Given the description of an element on the screen output the (x, y) to click on. 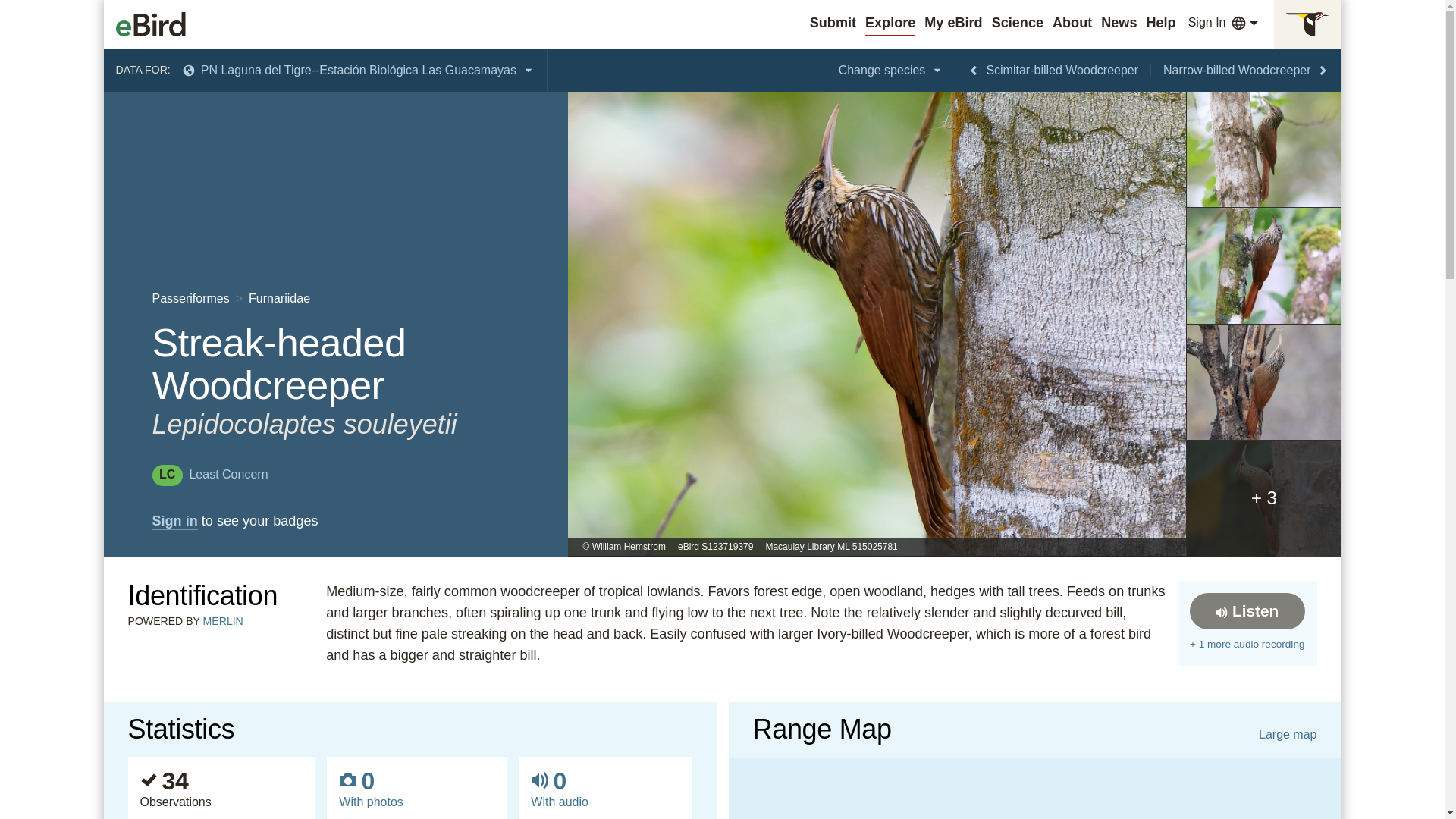
Explore (889, 23)
Scimitar-billed Woodcreeper (1052, 70)
Submit (832, 23)
Sign In (1206, 23)
Help (1159, 23)
eBird S123719379 (715, 547)
About (1072, 23)
My eBird (952, 23)
Macaulay Library ML 515025781 (830, 547)
Change species (891, 70)
Narrow-billed Woodcreeper (1245, 70)
News (1118, 23)
Global IUCN 2023 Red List category (209, 473)
Science (1017, 23)
